Given the description of an element on the screen output the (x, y) to click on. 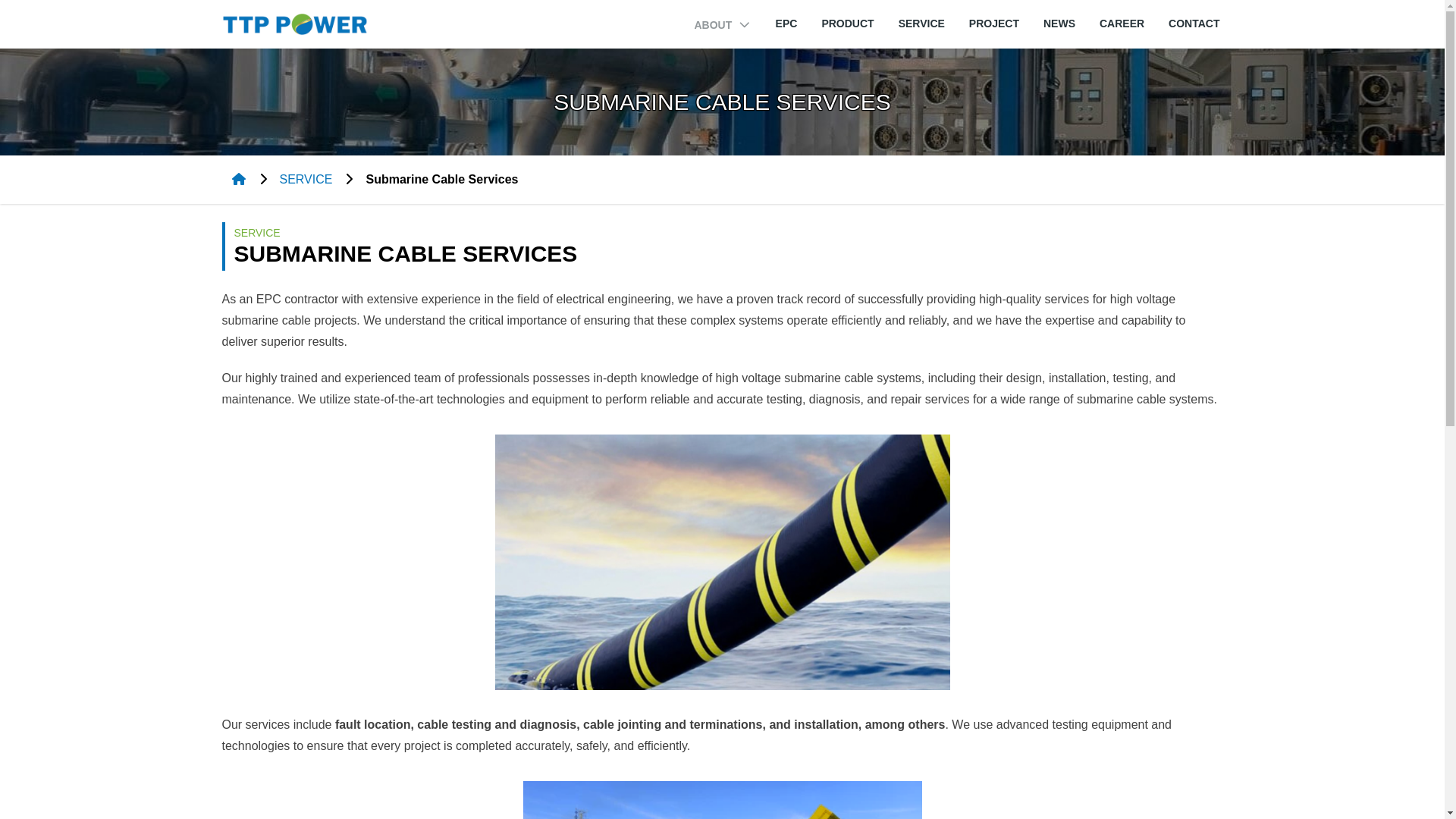
CONTACT (1194, 23)
PRODUCT (847, 23)
PROJECT (994, 23)
SERVICE (304, 178)
EPC (786, 23)
CAREER (1121, 23)
NEWS (1059, 23)
SERVICE (921, 23)
ABOUT (722, 24)
